Given the description of an element on the screen output the (x, y) to click on. 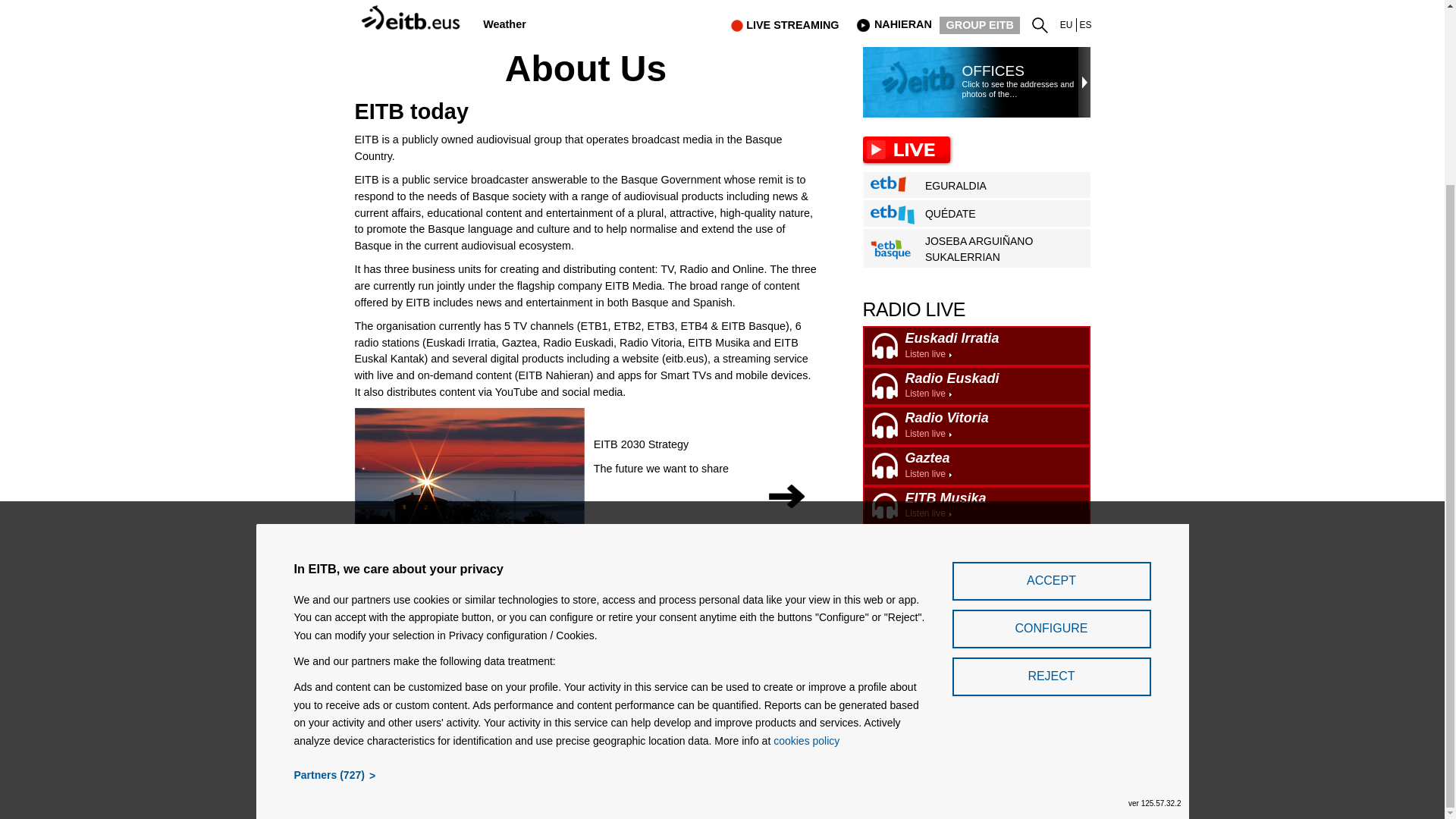
Legal disclaimer (609, 732)
GROUP EITB (979, 25)
The future we want to share (661, 473)
EITB Euskal Irrati Telebista (412, 9)
ES (1086, 24)
EITB 2030 Strategy (641, 448)
Offices (991, 70)
EGURALDIA (979, 185)
Bilatu (1043, 21)
Euskara (976, 345)
OFFICES (1066, 24)
Cookie Policy (991, 70)
